Given the description of an element on the screen output the (x, y) to click on. 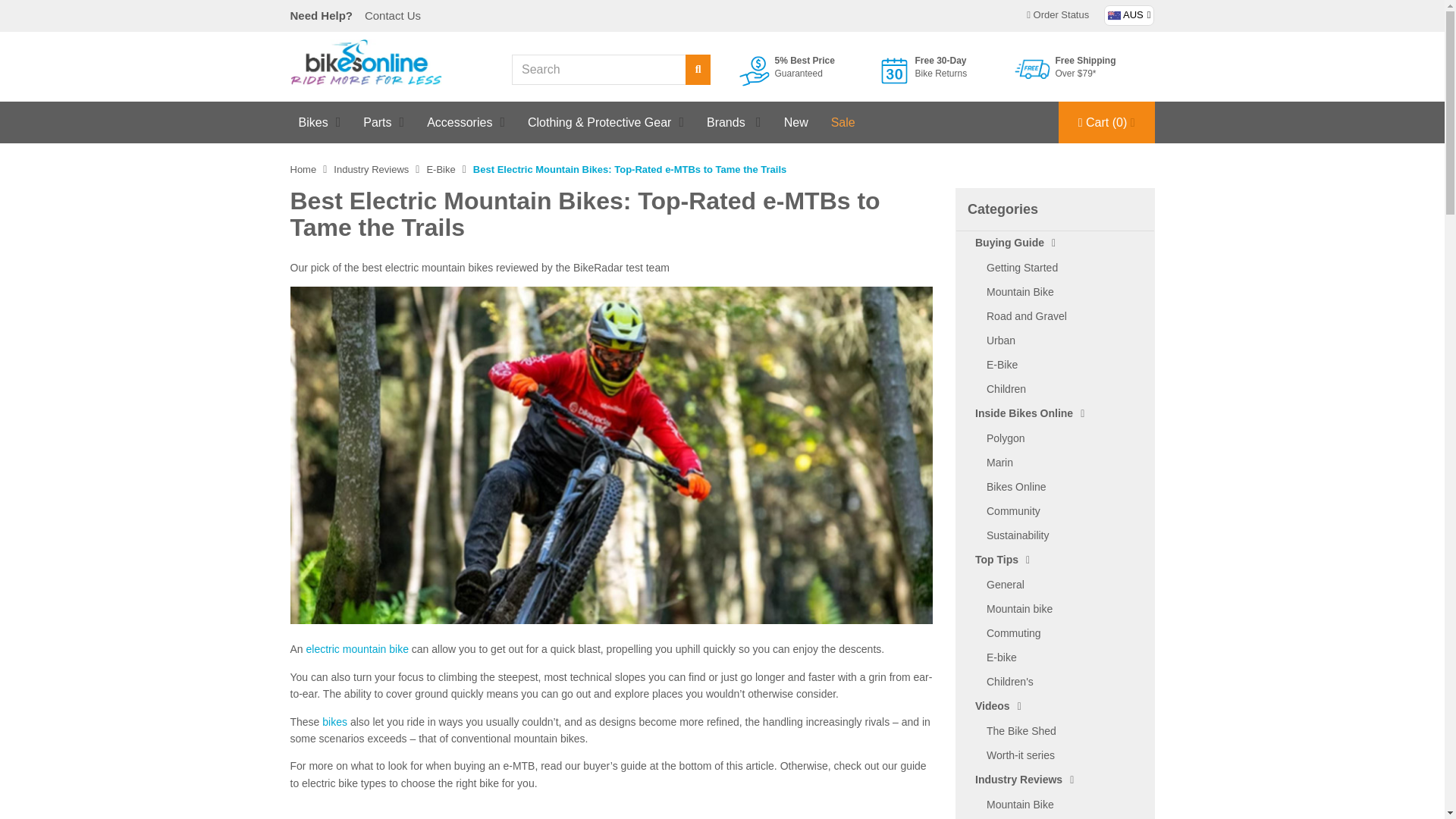
link to Free 30-Day (943, 70)
link to Free Shipping (1083, 69)
AUS (1128, 14)
Need Help? (322, 15)
BikesOnline AU (365, 61)
Contact Us (392, 15)
Order Status (1057, 15)
